Given the description of an element on the screen output the (x, y) to click on. 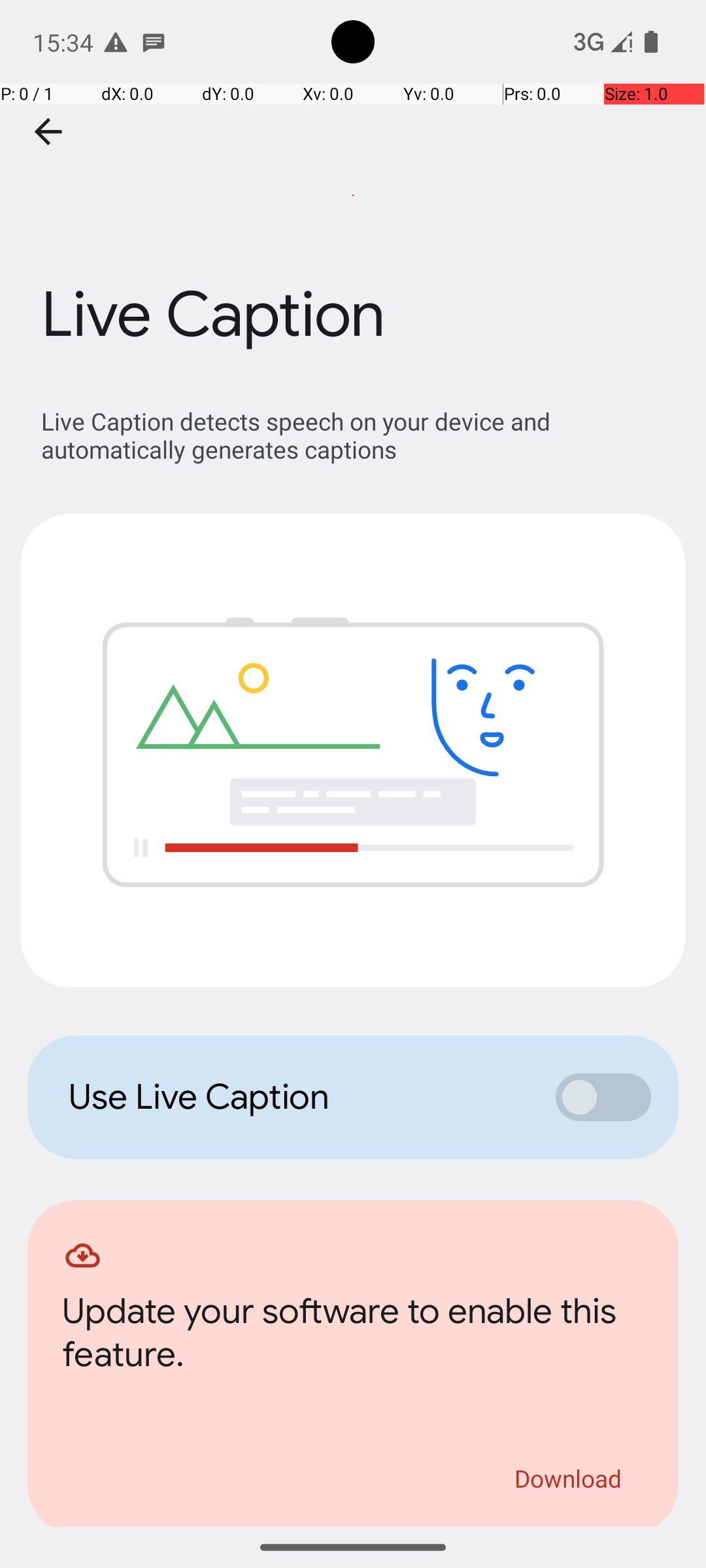
Live Caption detects speech on your device and automatically generates captions Element type: android.widget.TextView (359, 434)
Use Live Caption Element type: android.widget.TextView (298, 1096)
Update your software to enable this feature. Element type: android.widget.TextView (352, 1336)
Download Element type: android.widget.Button (567, 1478)
